Given the description of an element on the screen output the (x, y) to click on. 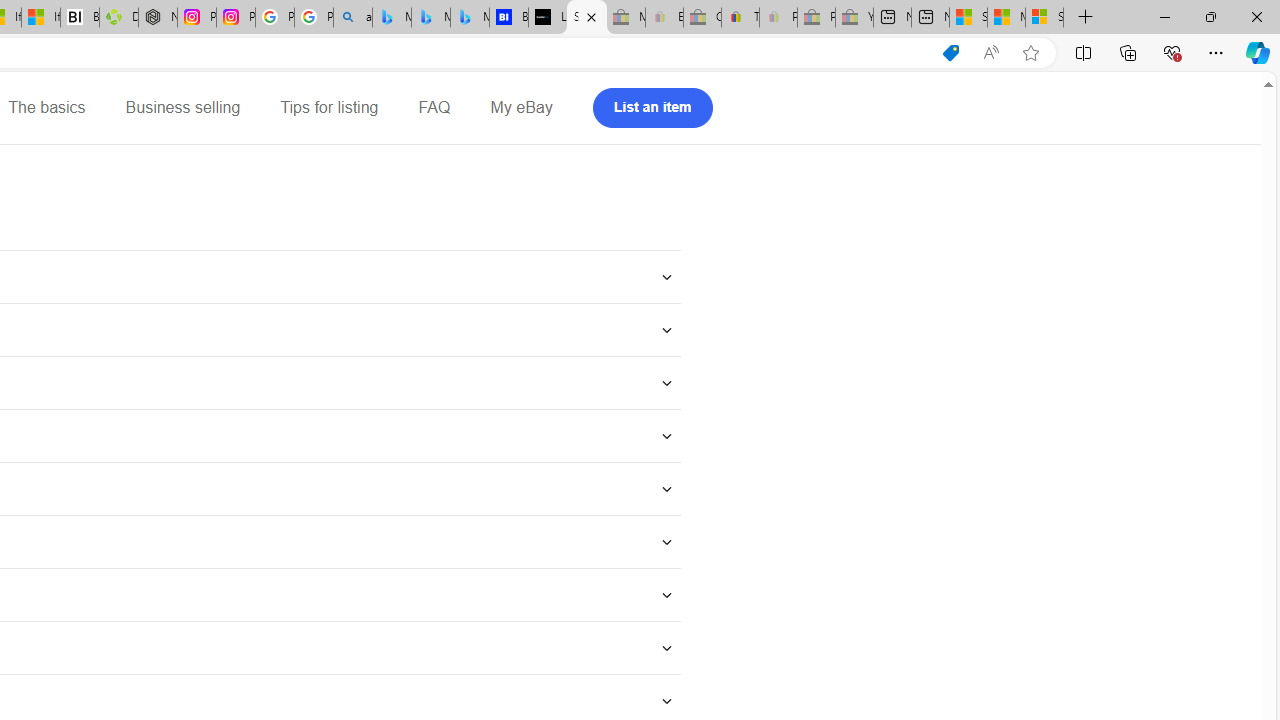
Microsoft Bing Travel - Flights from Hong Kong to Bangkok (391, 17)
Payments Terms of Use | eBay.com - Sleeping (778, 17)
My eBay (521, 107)
Sign in to your Microsoft account (1044, 17)
The basics (46, 107)
The basics (46, 107)
My eBay (521, 107)
